Given the description of an element on the screen output the (x, y) to click on. 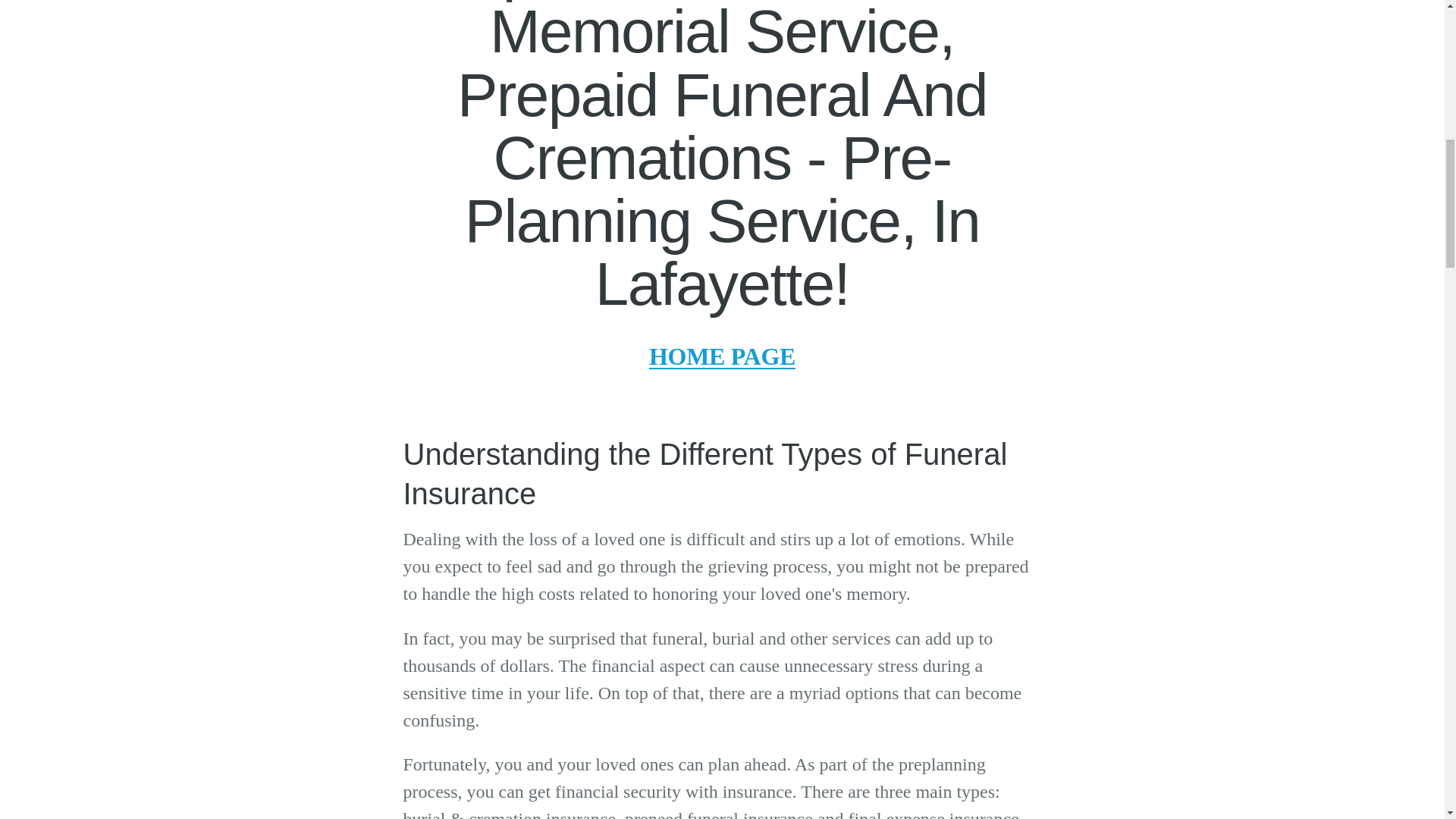
HOME PAGE (721, 356)
